Given the description of an element on the screen output the (x, y) to click on. 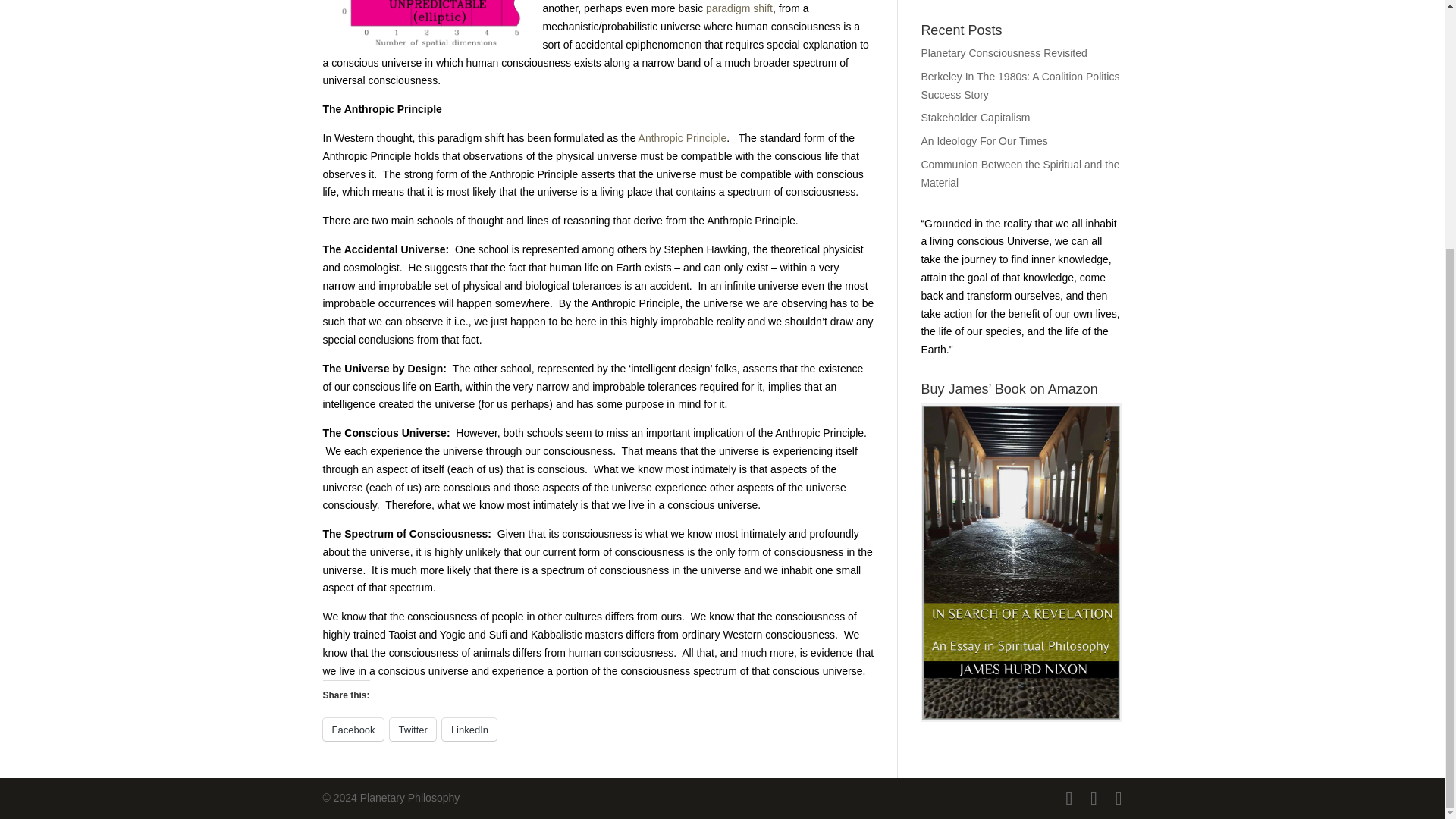
Click to share on Facebook (353, 729)
Click to share on LinkedIn (469, 729)
Click to share on Twitter (412, 729)
